Given the description of an element on the screen output the (x, y) to click on. 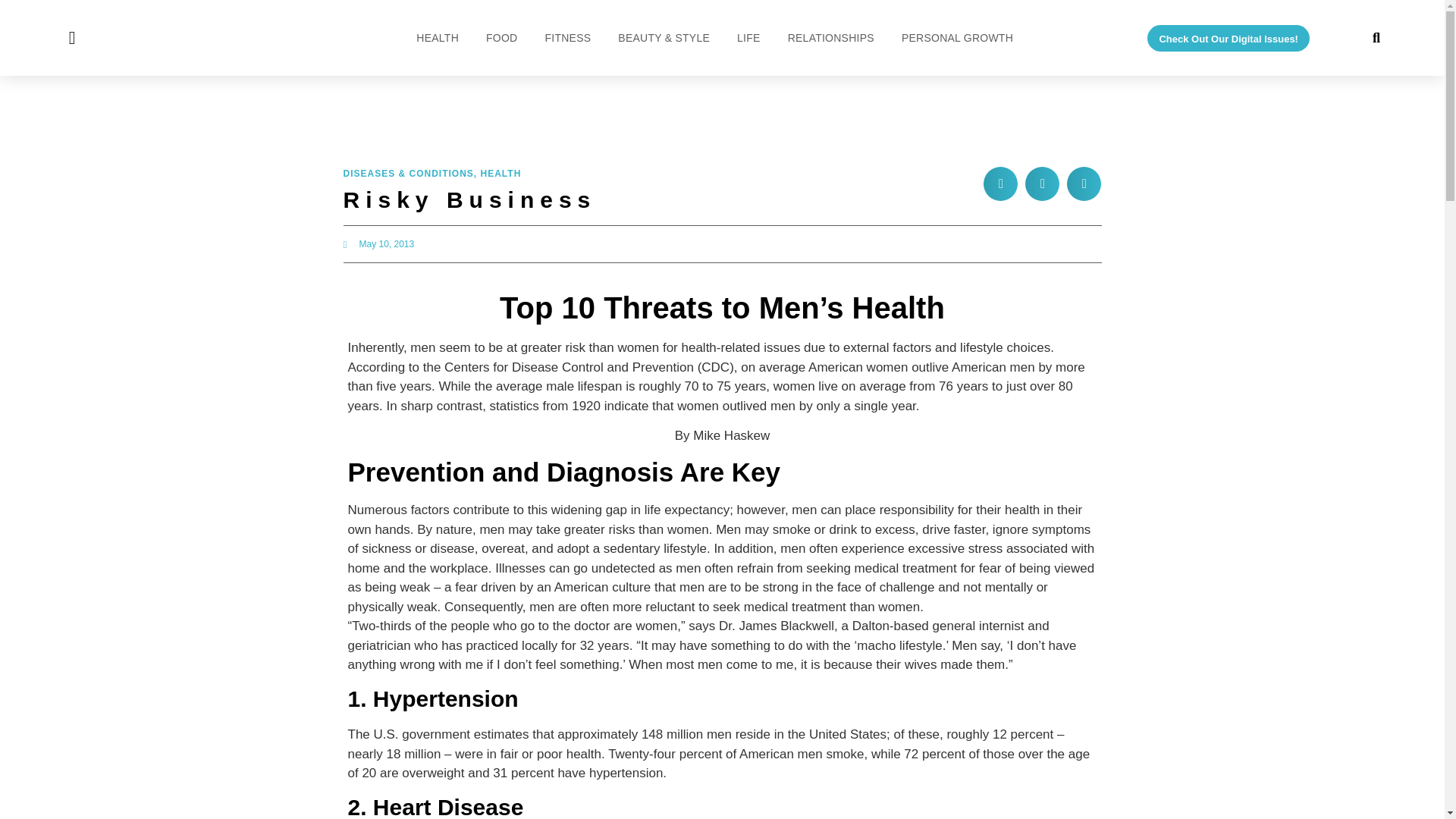
HEALTH (437, 37)
FITNESS (567, 37)
PERSONAL GROWTH (957, 37)
FOOD (501, 37)
LIFE (748, 37)
RELATIONSHIPS (830, 37)
Check Out Our Digital Issues! (1227, 37)
